Given the description of an element on the screen output the (x, y) to click on. 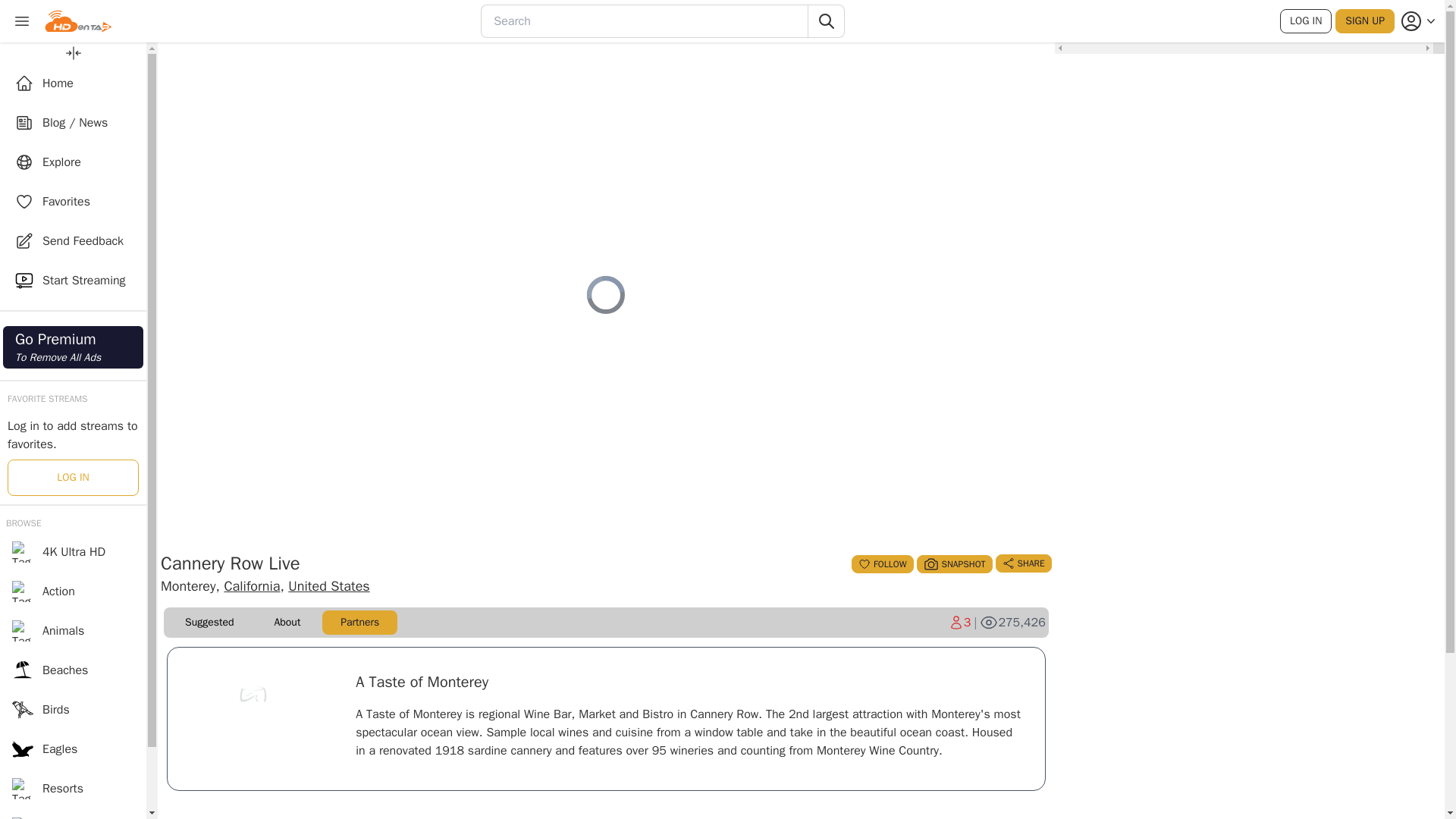
Scenic (73, 813)
Current viewers (960, 622)
LOG IN (72, 477)
Eagles (73, 749)
FOLLOW (881, 564)
Start Streaming (72, 280)
Follow this stream (881, 564)
4K Ultra HD (73, 551)
Animals (73, 630)
SIGN UP (1364, 21)
Explore (72, 162)
Home (72, 346)
Beaches (72, 83)
LOG IN (73, 670)
